Given the description of an element on the screen output the (x, y) to click on. 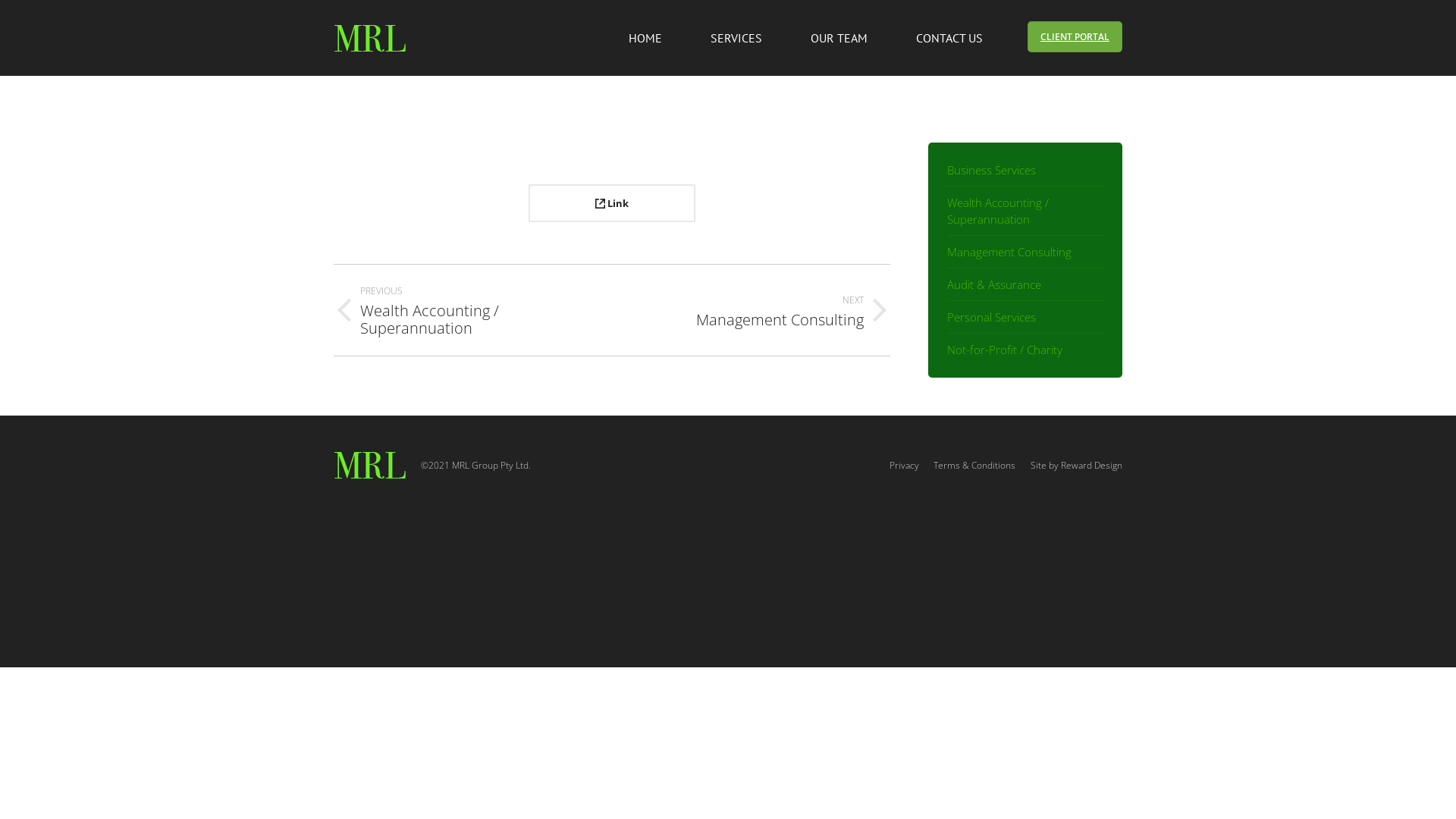
NEXT
Next project:
Management Consulting Element type: text (762, 309)
Terms & Conditions Element type: text (974, 465)
OUR TEAM Element type: text (838, 37)
 Link Element type: text (611, 203)
Wealth Accounting / Superannuation Element type: text (1025, 210)
SERVICES Element type: text (736, 37)
Business Services Element type: text (991, 169)
Management Consulting Element type: text (1009, 251)
Personal Services Element type: text (991, 316)
Privacy Element type: text (904, 465)
CLIENT PORTAL Element type: text (1074, 36)
CONTACT US Element type: text (948, 37)
Not-for-Profit / Charity Element type: text (1004, 349)
HOME Element type: text (645, 37)
Audit & Assurance Element type: text (994, 284)
